Given the description of an element on the screen output the (x, y) to click on. 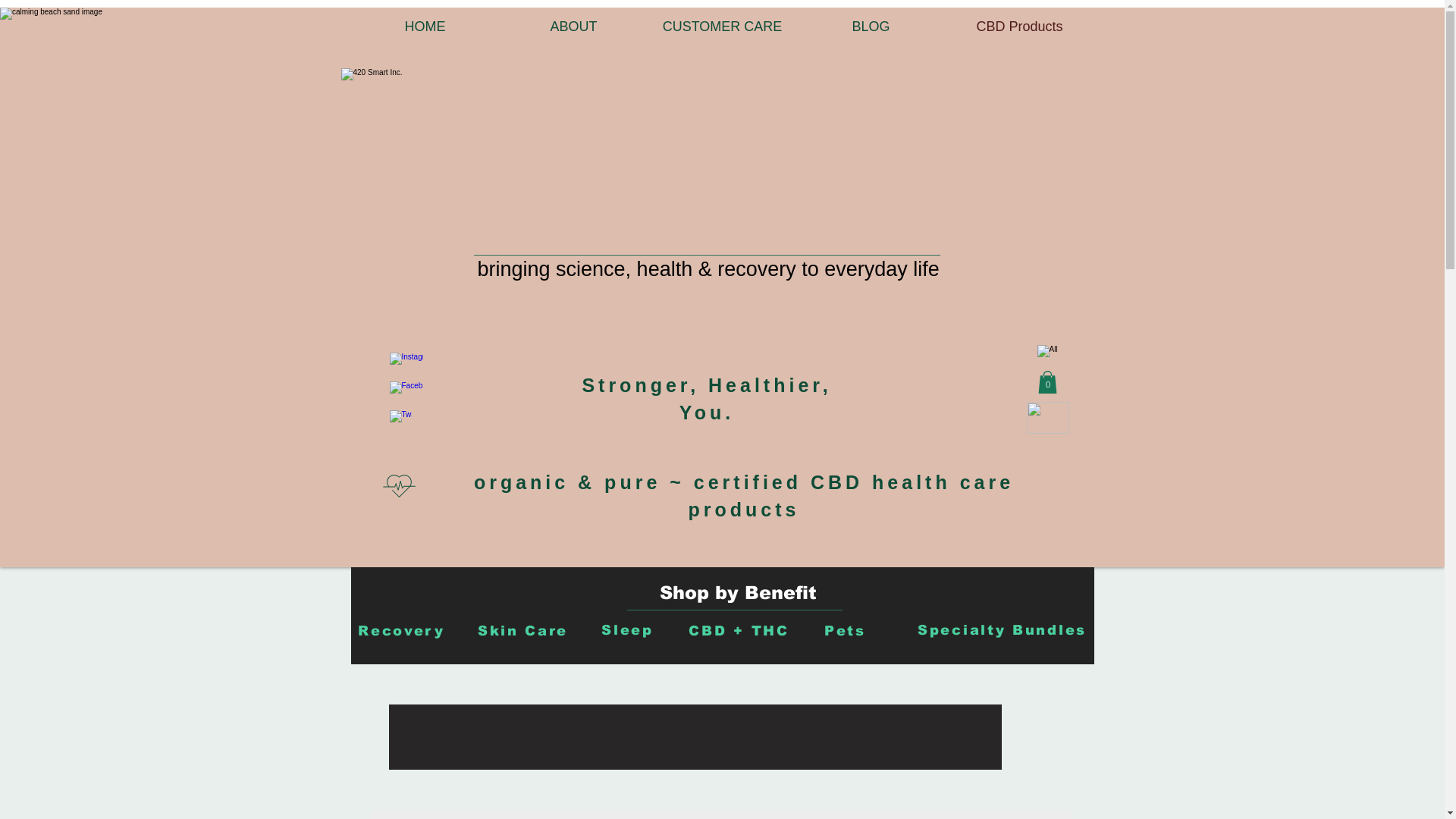
CBD Products Element type: text (1018, 26)
HOME Element type: text (424, 26)
Sleep Element type: text (627, 630)
BLOG Element type: text (870, 26)
Recovery Element type: text (400, 630)
Hand drawn heart Element type: hover (1047, 417)
Certified & Trusted Element type: hover (689, 220)
0 Element type: text (1046, 381)
All cannabis grown in the USA Element type: hover (1047, 351)
CUSTOMER CARE Element type: text (721, 26)
CBD + THC Element type: text (739, 630)
Specialty Bundles Element type: text (1001, 630)
Skin Care Element type: text (522, 630)
Pets Element type: text (844, 630)
ABOUT Element type: text (572, 26)
